Given the description of an element on the screen output the (x, y) to click on. 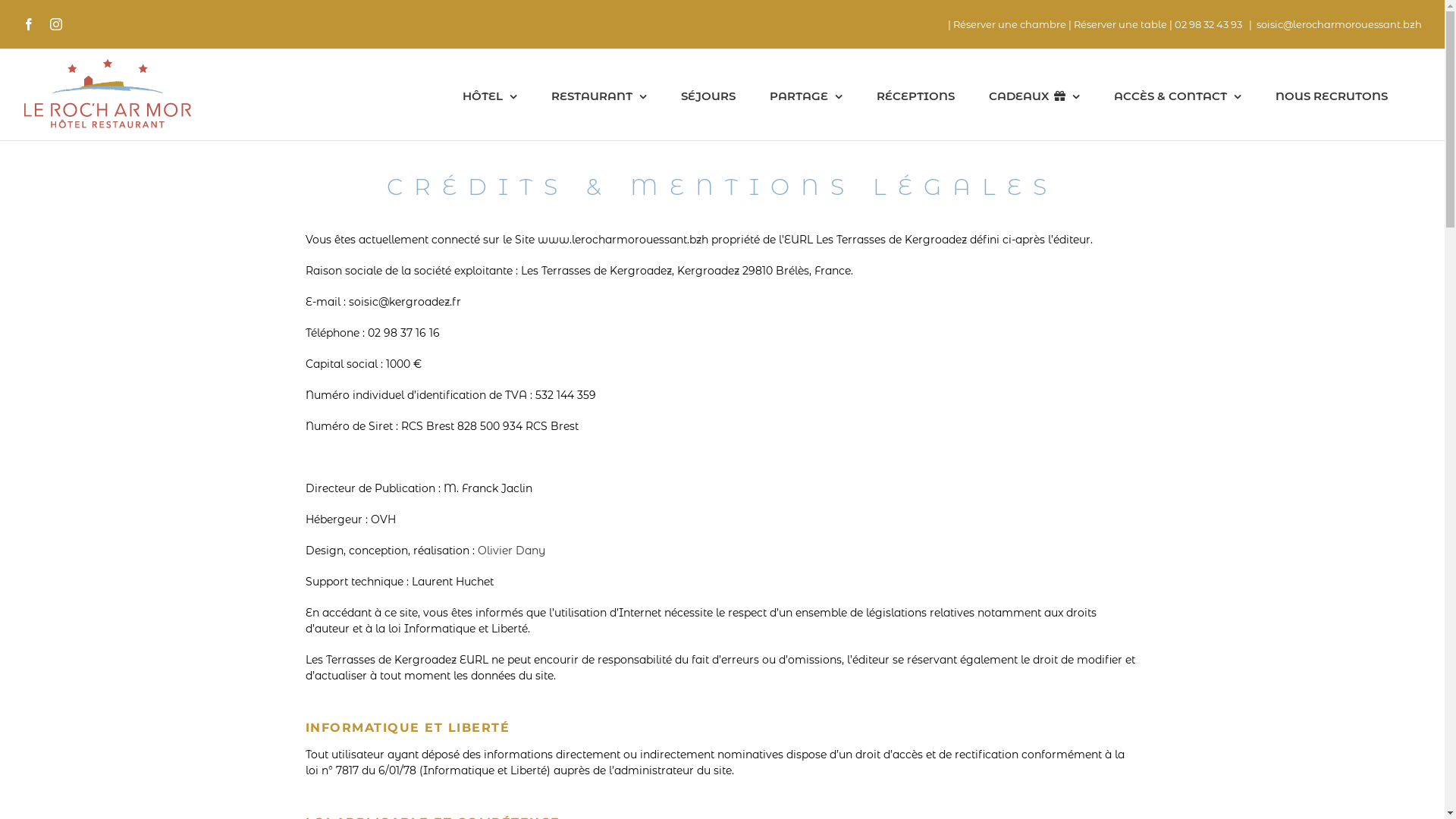
CADEAUX Element type: text (1034, 94)
02 98 32 43 93 Element type: text (1209, 24)
Olivier Dany Element type: text (511, 550)
PARTAGE Element type: text (804, 94)
Instagram Element type: text (56, 24)
RESTAURANT Element type: text (598, 94)
NOUS RECRUTONS Element type: text (1331, 94)
Facebook Element type: text (28, 24)
soisic@lerocharmorouessant.bzh Element type: text (1338, 24)
